Given the description of an element on the screen output the (x, y) to click on. 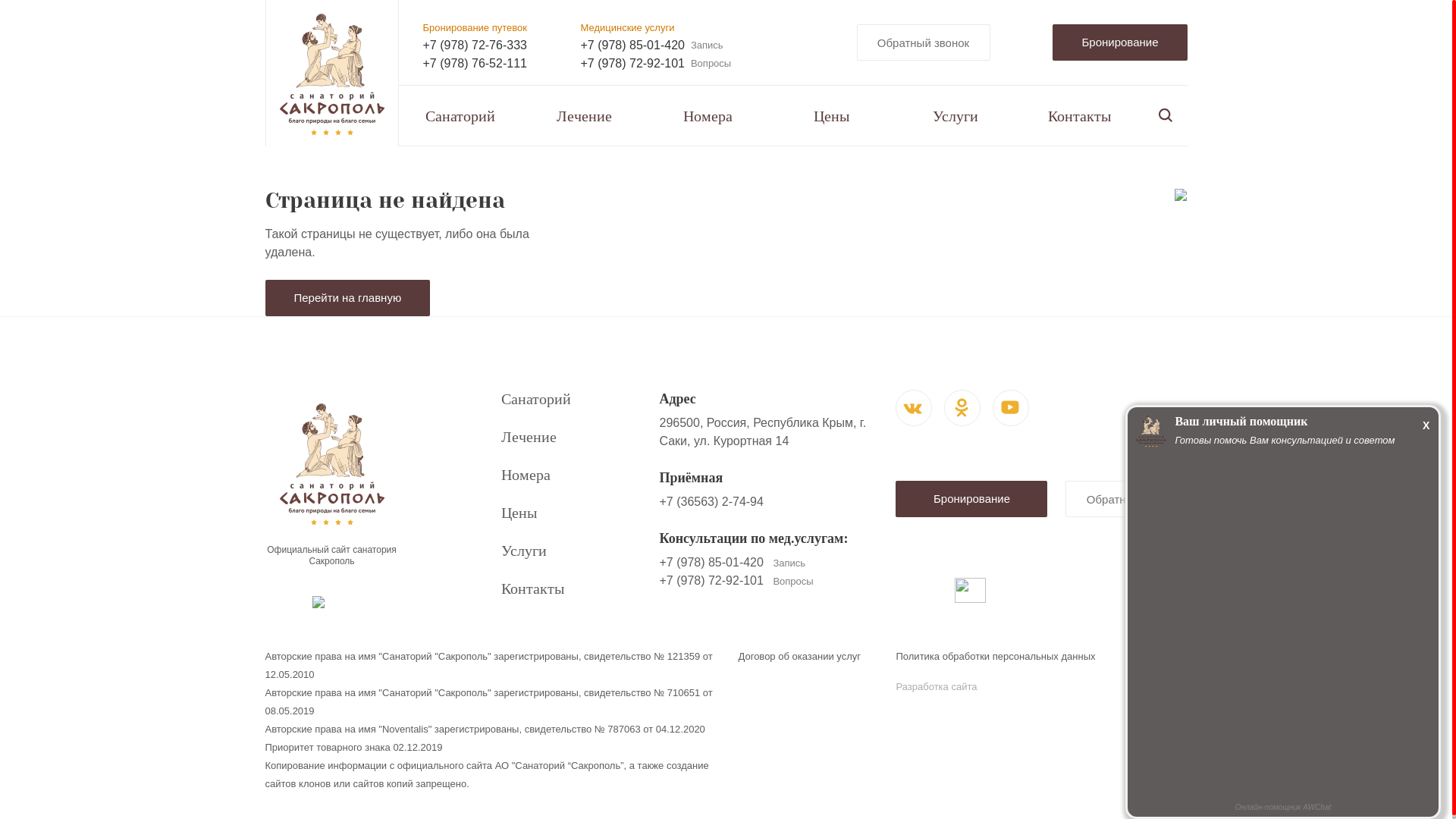
+7 (978) 85-01-420 Element type: text (710, 561)
+7 (978) 72-92-101 Element type: text (710, 580)
X Element type: text (1425, 424)
+7 (978) 76-52-111 Element type: text (475, 63)
+7 (36563) 2-74-94 Element type: text (710, 501)
+7 (978) 72-92-101 Element type: text (632, 63)
+7 (978) 72-76-333 Element type: text (475, 45)
+7 (978) 85-01-420 Element type: text (632, 45)
